Given the description of an element on the screen output the (x, y) to click on. 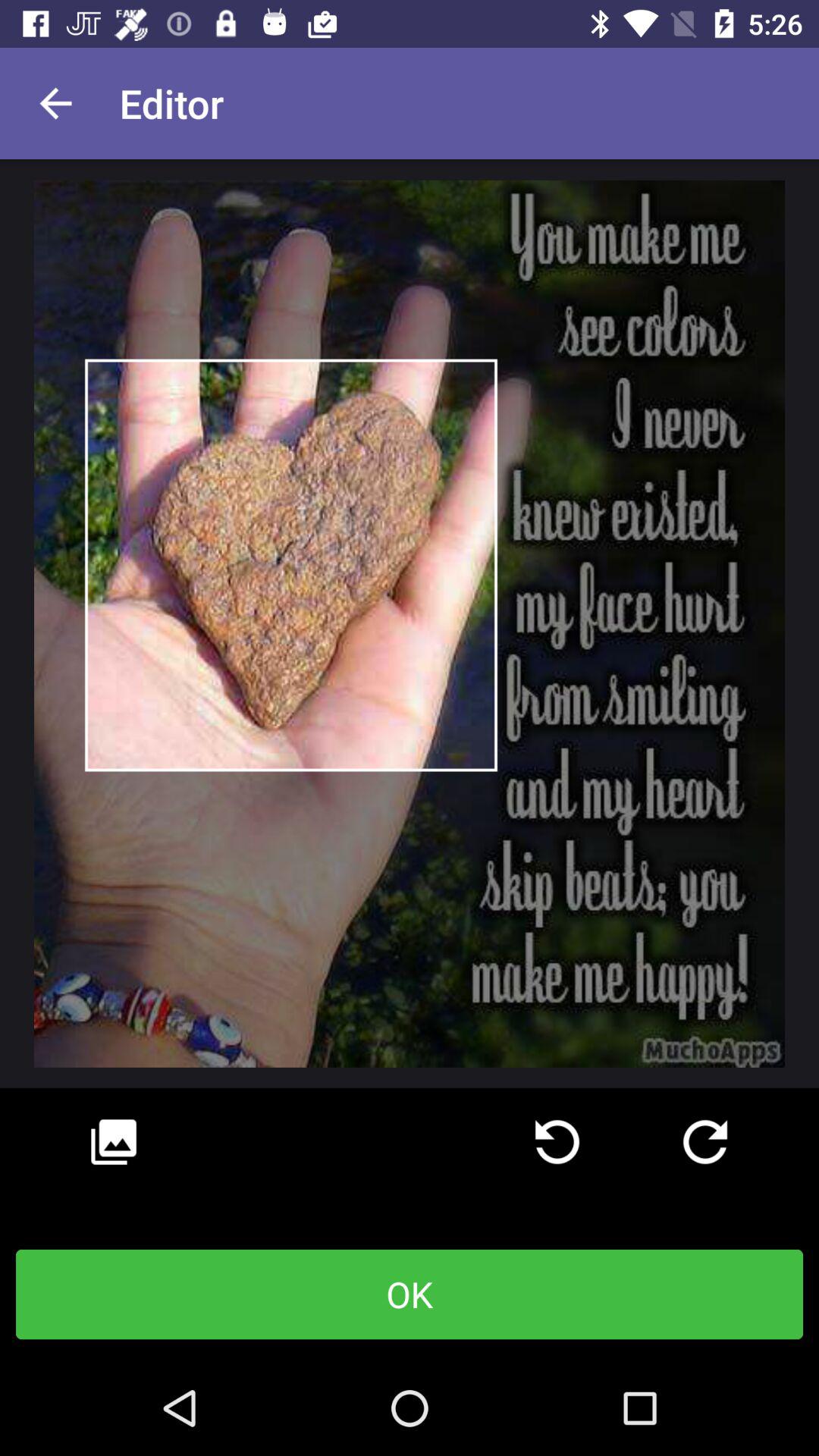
rotate to left (557, 1142)
